Given the description of an element on the screen output the (x, y) to click on. 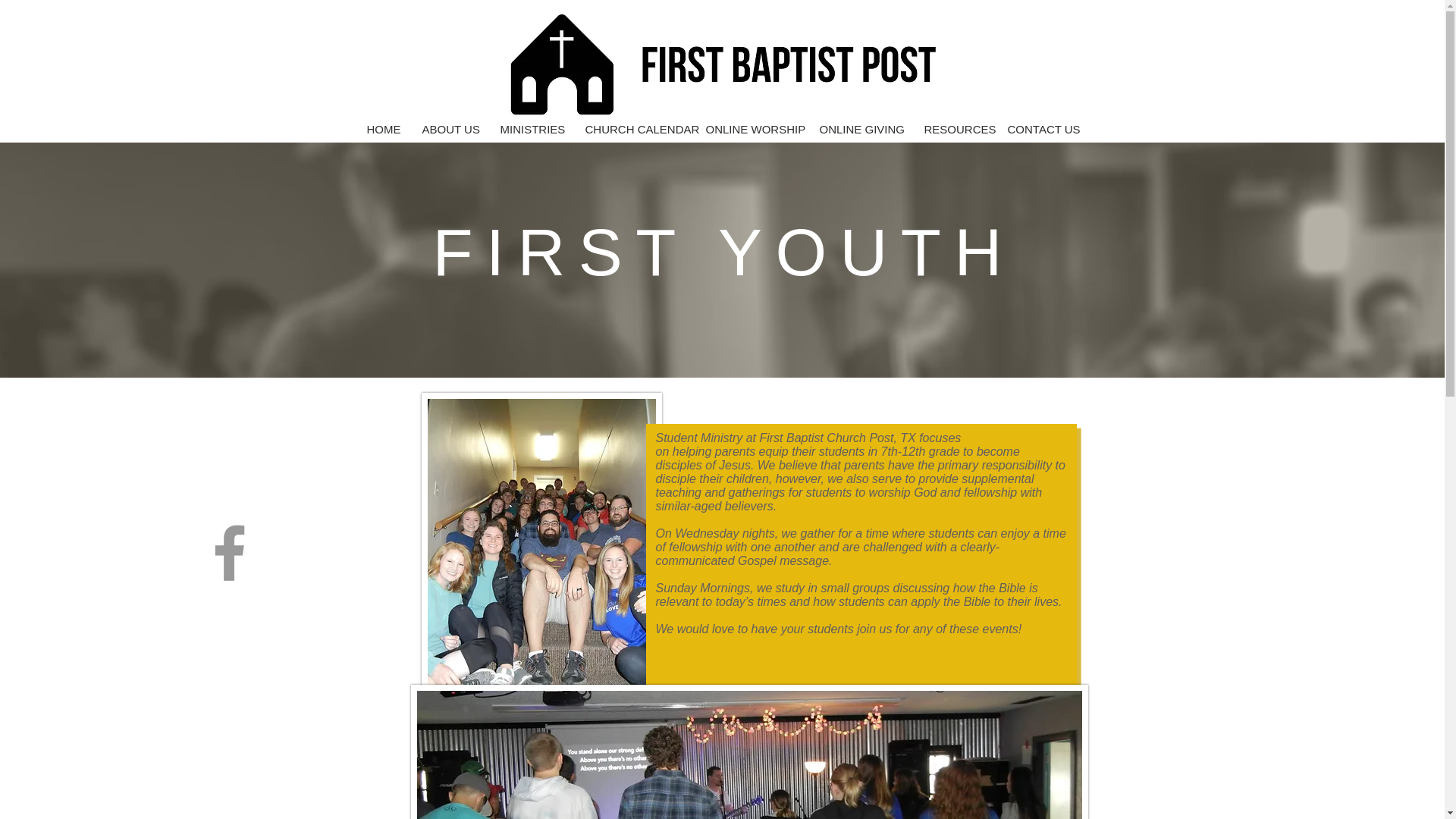
ONLINE GIVING (860, 129)
MINISTRIES (530, 129)
ABOUT US (449, 129)
CONTACT US (1041, 129)
HOME (382, 129)
RESOURCES (953, 129)
ONLINE WORSHIP (751, 129)
CHURCH CALENDAR (633, 129)
